Given the description of an element on the screen output the (x, y) to click on. 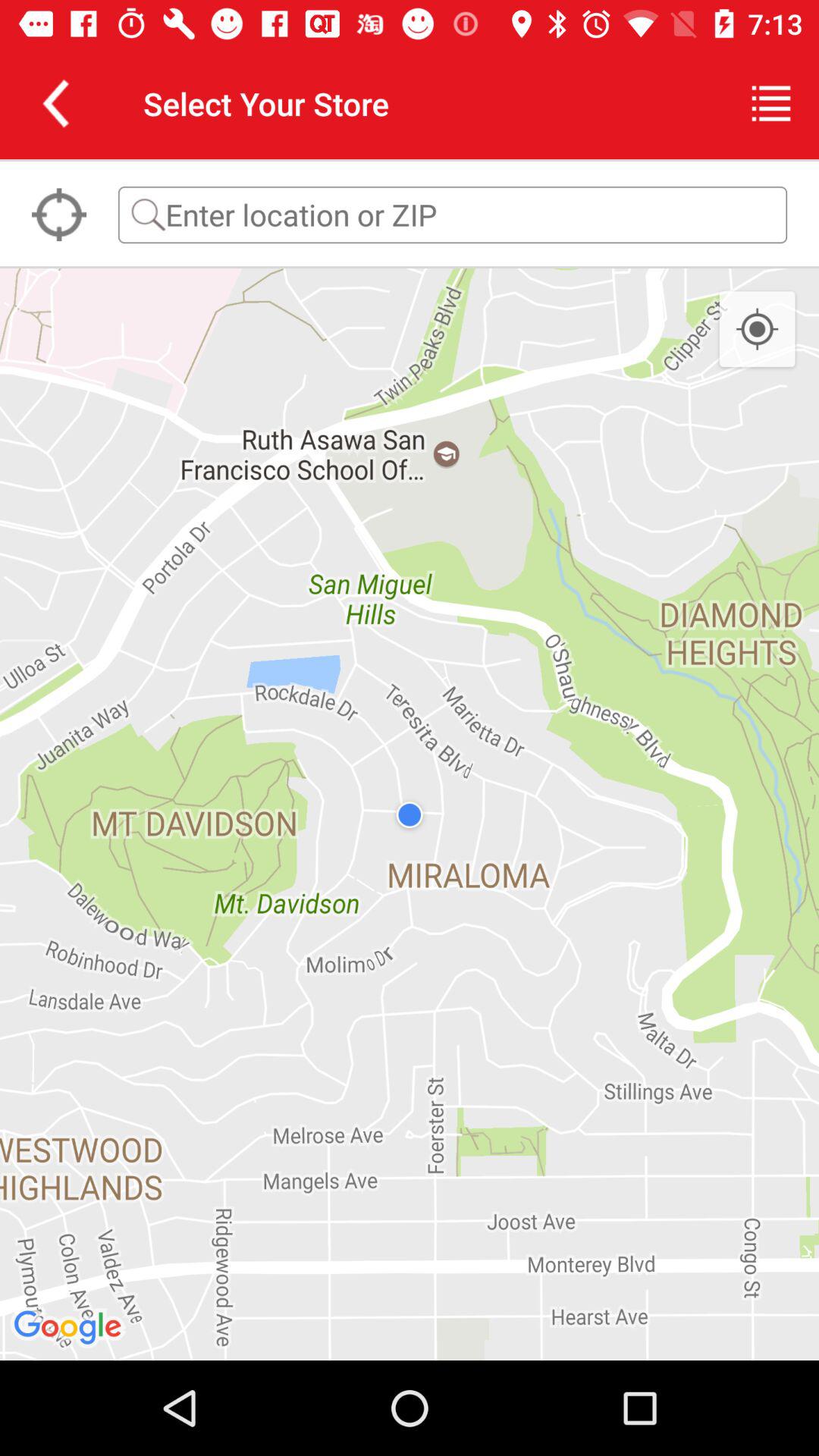
open the icon next to the select your store icon (771, 103)
